Given the description of an element on the screen output the (x, y) to click on. 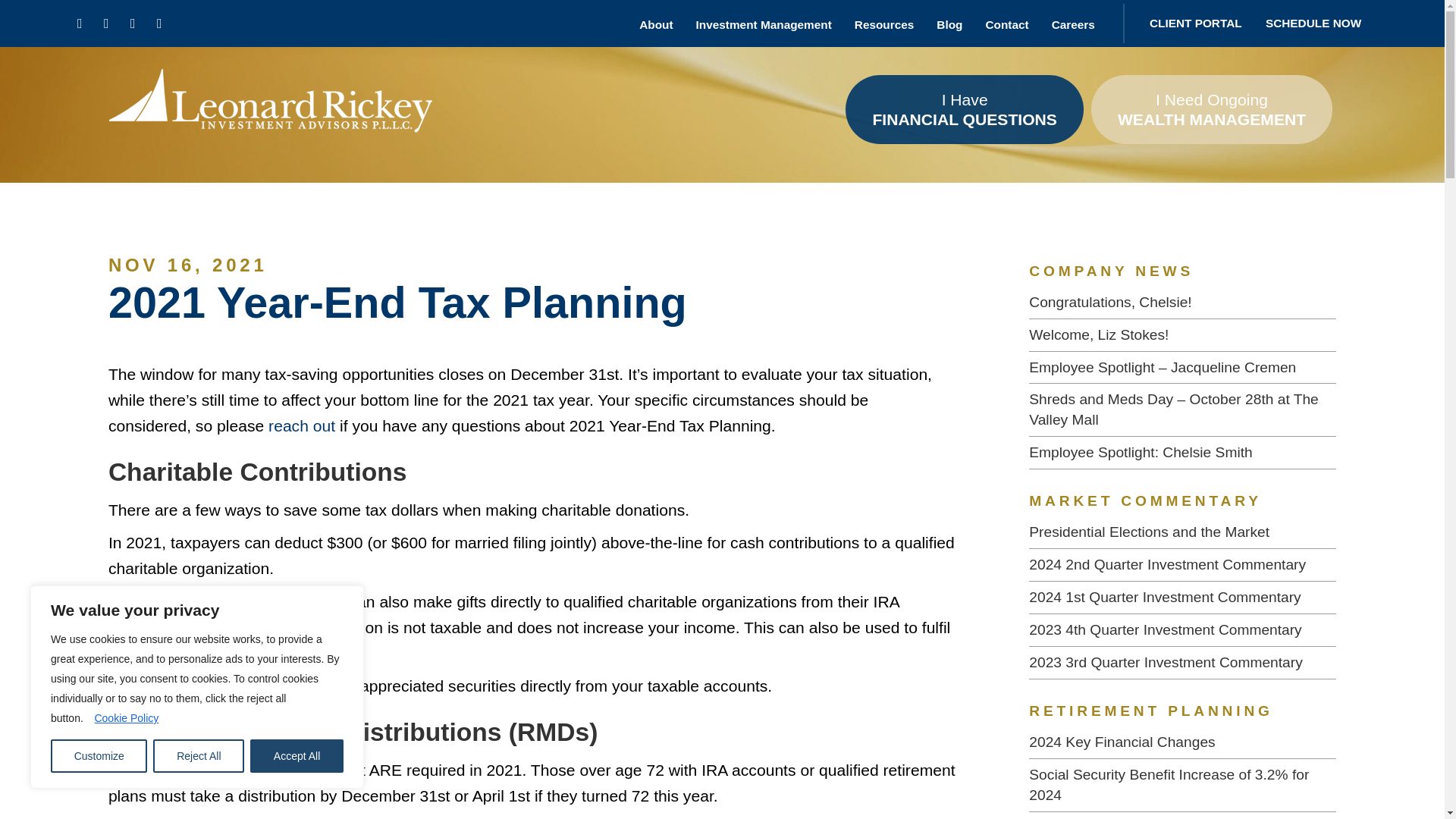
Customize (98, 756)
CLIENT PORTAL (1195, 22)
Blog (948, 23)
Investment Management (764, 23)
logo-white (269, 108)
Accept All (296, 756)
About (655, 23)
Congratulations, Chelsie! (1182, 302)
Twitter (106, 23)
RSS (159, 23)
Reject All (198, 756)
Cookie Policy (125, 717)
SCHEDULE NOW (1313, 22)
Facebook (79, 23)
Careers (1072, 23)
